Given the description of an element on the screen output the (x, y) to click on. 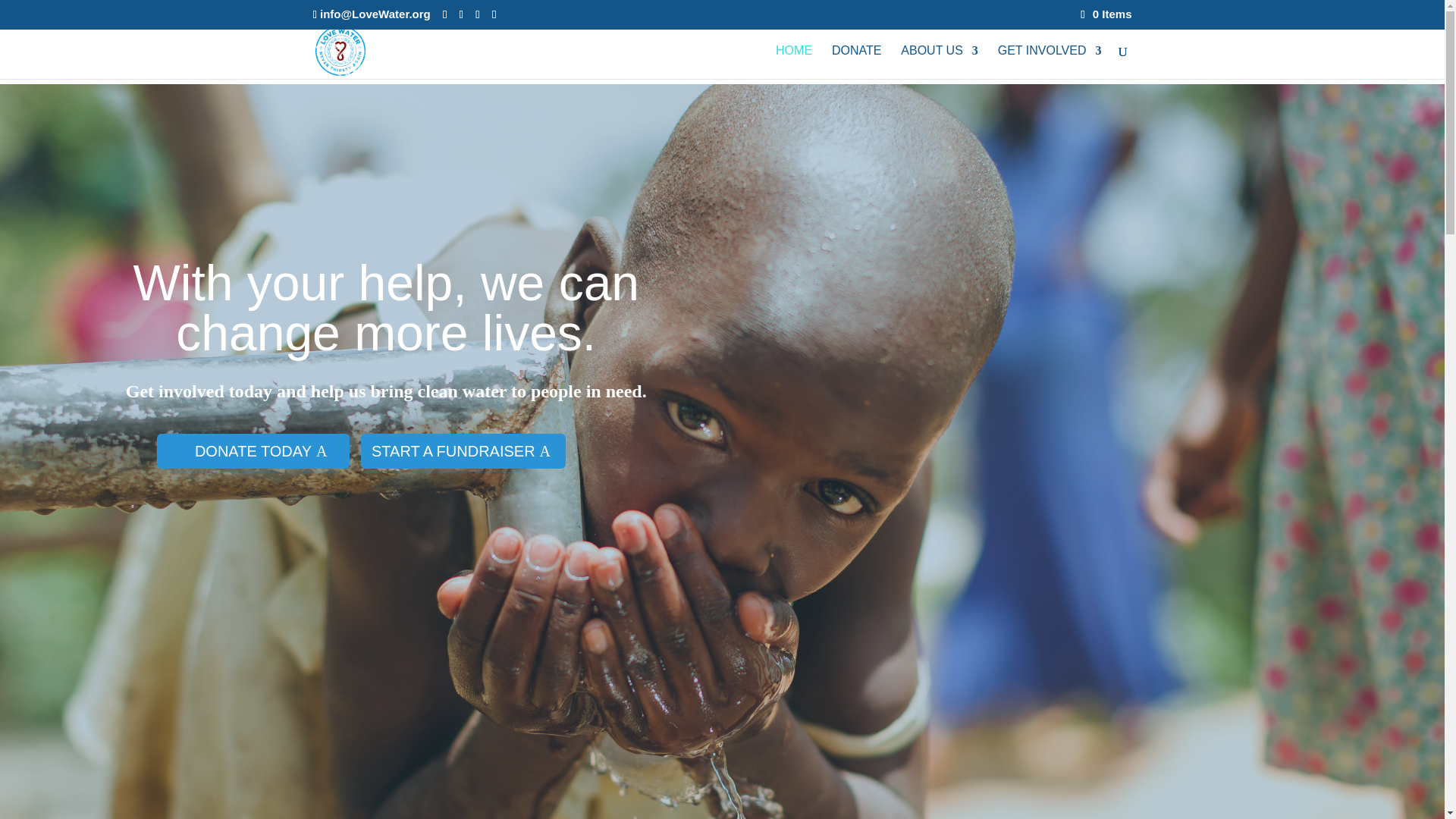
DONATE TODAY (253, 451)
START A FUNDRAISER (463, 451)
ABOUT US (939, 61)
GET INVOLVED (1049, 61)
HOME (794, 61)
DONATE (855, 61)
0 Items (1105, 13)
